Given the description of an element on the screen output the (x, y) to click on. 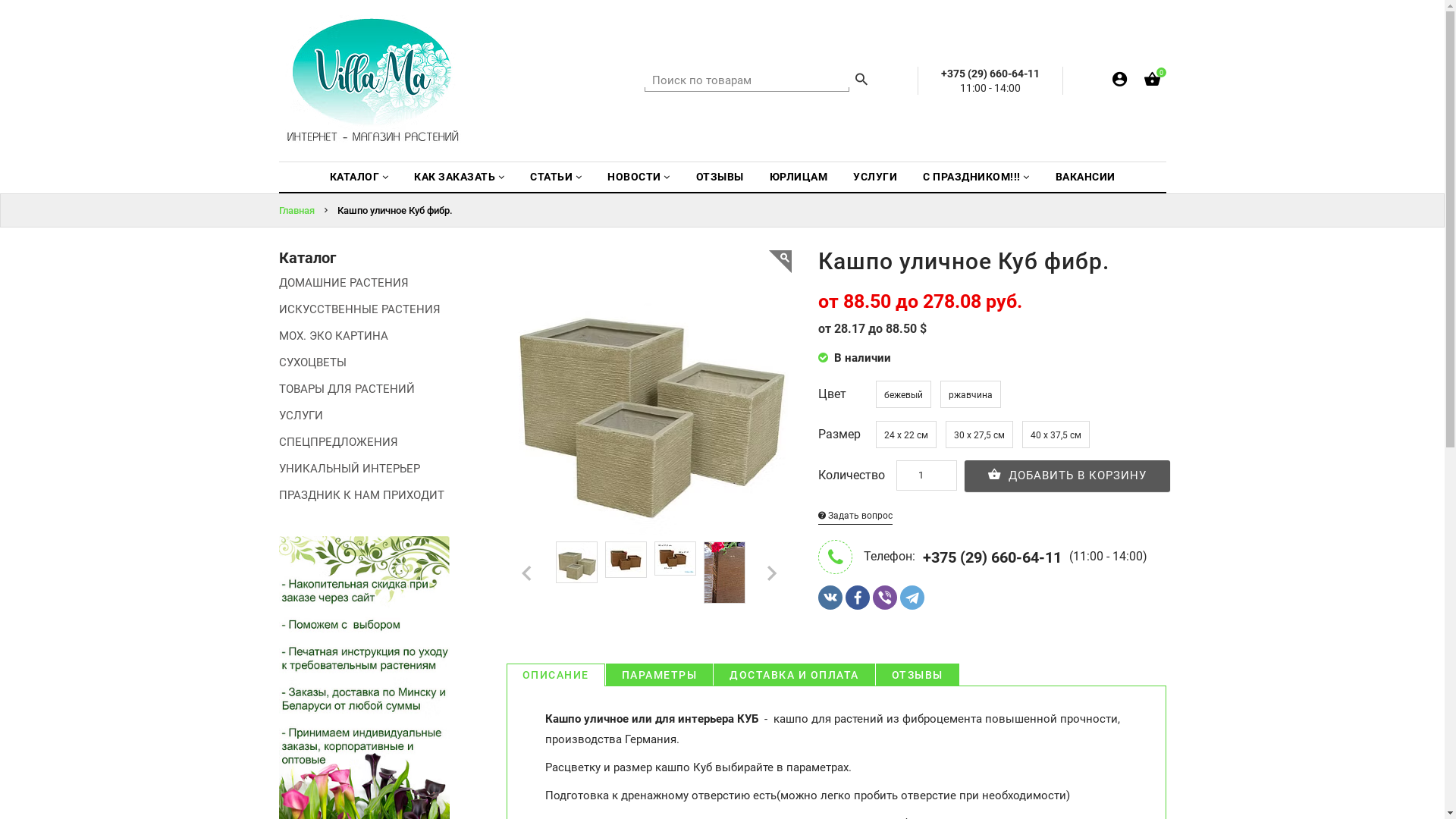
Viber Element type: hover (884, 597)
0 Element type: text (1151, 81)
Facebook Element type: hover (857, 597)
Telegram Element type: hover (912, 597)
Villa Ma Element type: hover (373, 80)
